Given the description of an element on the screen output the (x, y) to click on. 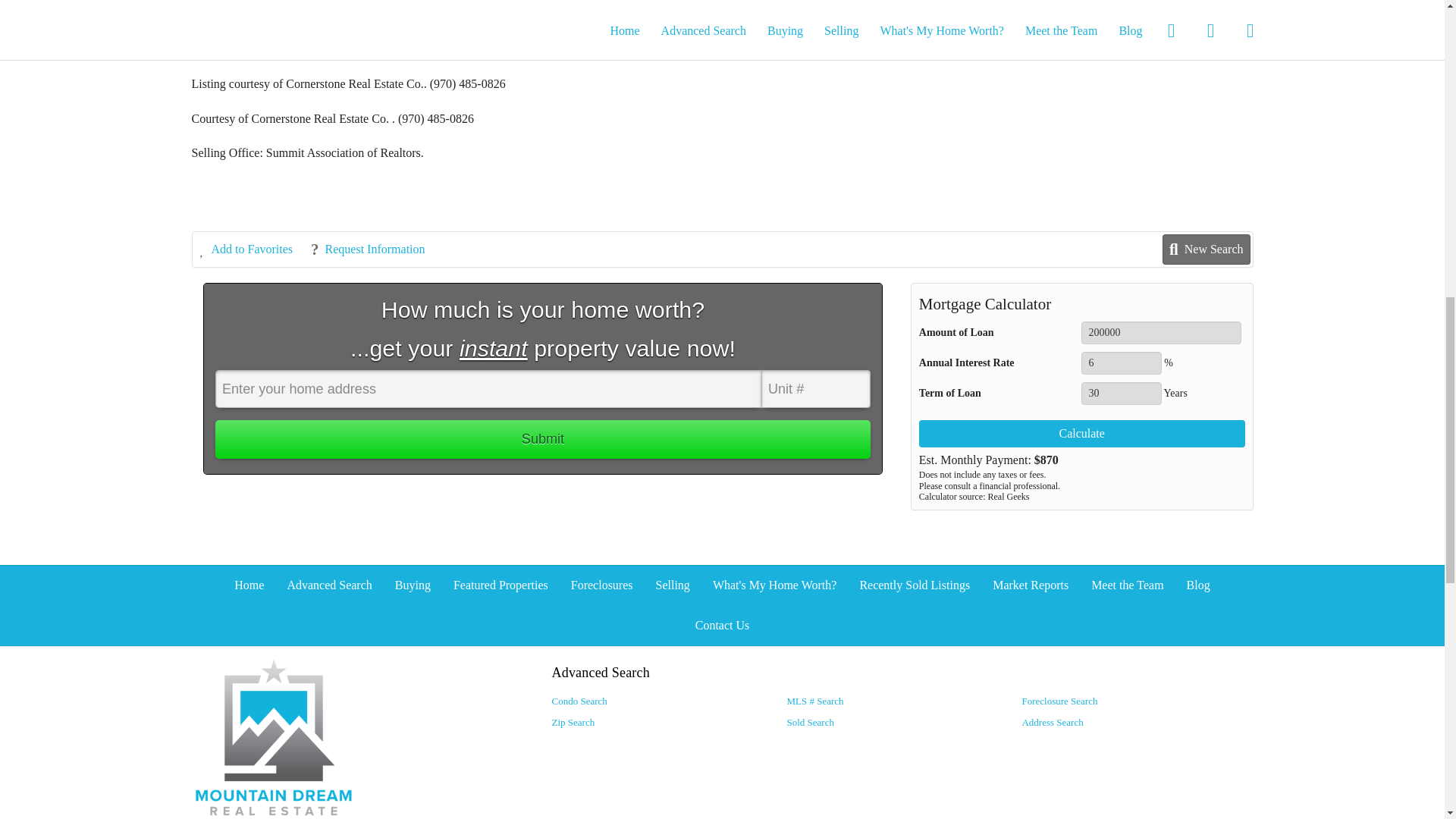
30 (1120, 393)
200000 (1161, 332)
6 (1120, 363)
